Given the description of an element on the screen output the (x, y) to click on. 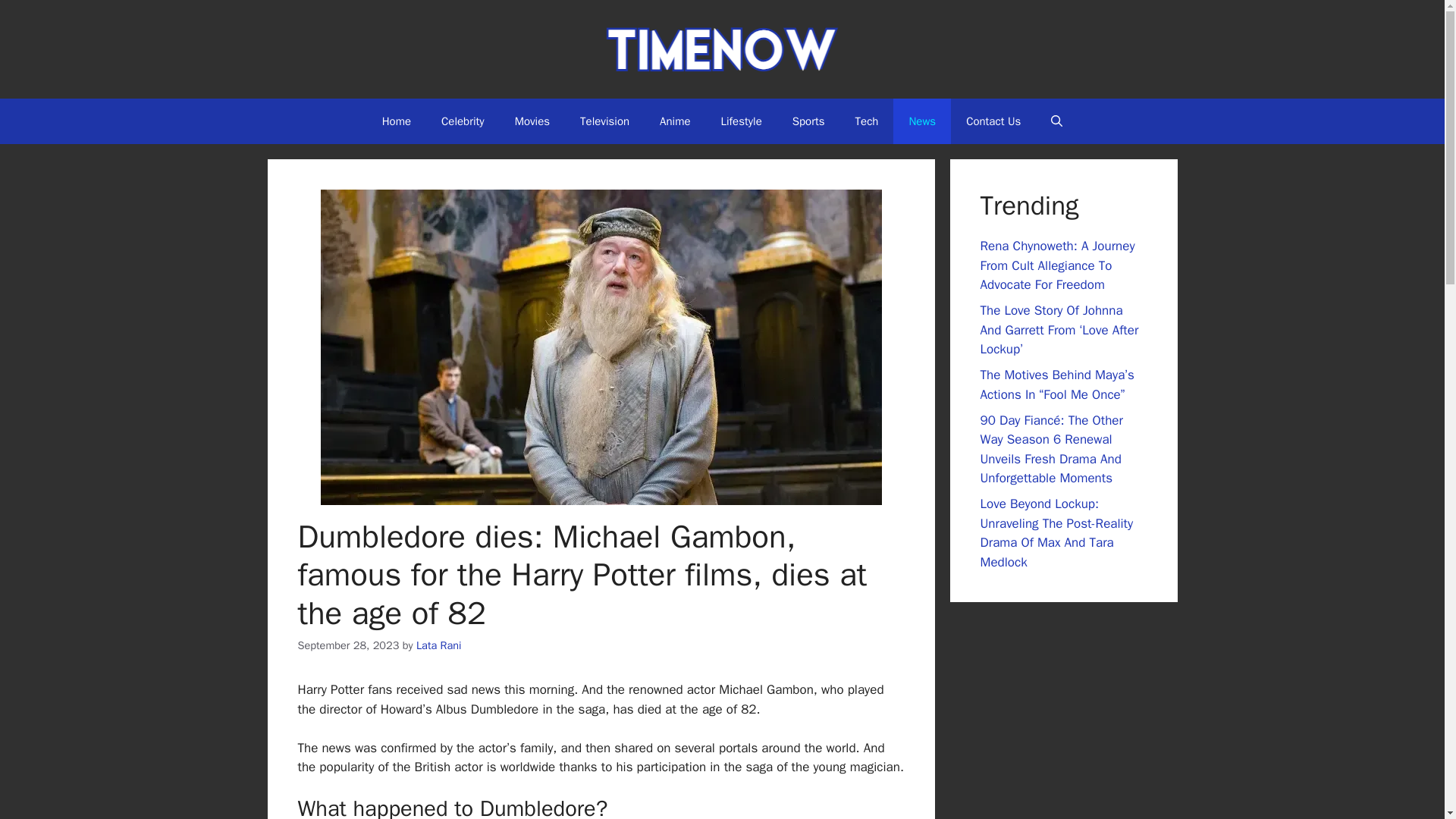
Sports (808, 121)
Tech (866, 121)
Television (604, 121)
Celebrity (462, 121)
Home (396, 121)
Movies (531, 121)
View all posts by Lata Rani (438, 644)
Anime (674, 121)
Lifestyle (741, 121)
News (921, 121)
Lata Rani (438, 644)
Contact Us (992, 121)
